Given the description of an element on the screen output the (x, y) to click on. 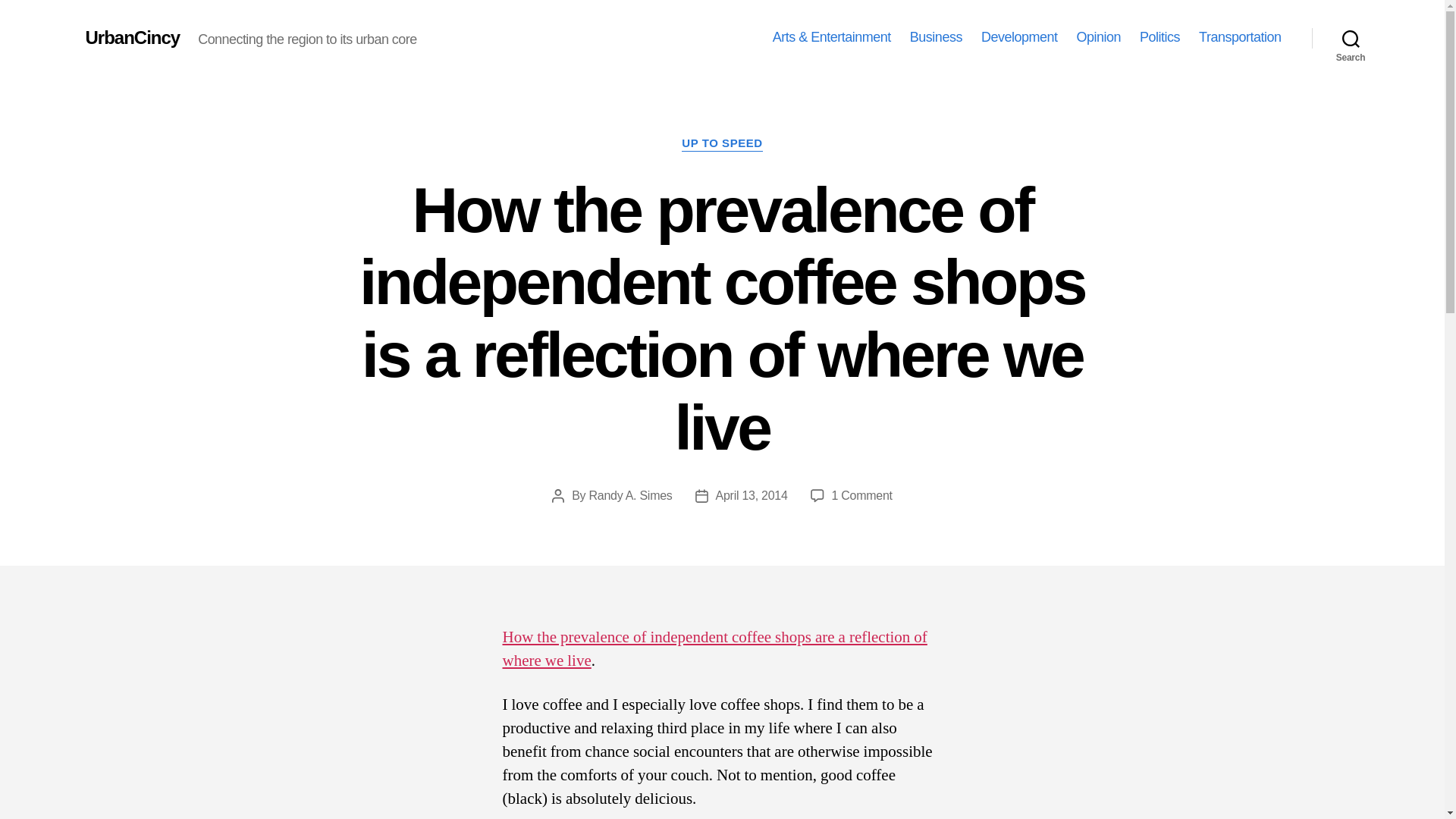
Opinion (1098, 37)
Development (1019, 37)
Politics (1159, 37)
Randy A. Simes (629, 495)
Business (936, 37)
UP TO SPEED (721, 143)
Transportation (1239, 37)
UrbanCincy (131, 37)
